Given the description of an element on the screen output the (x, y) to click on. 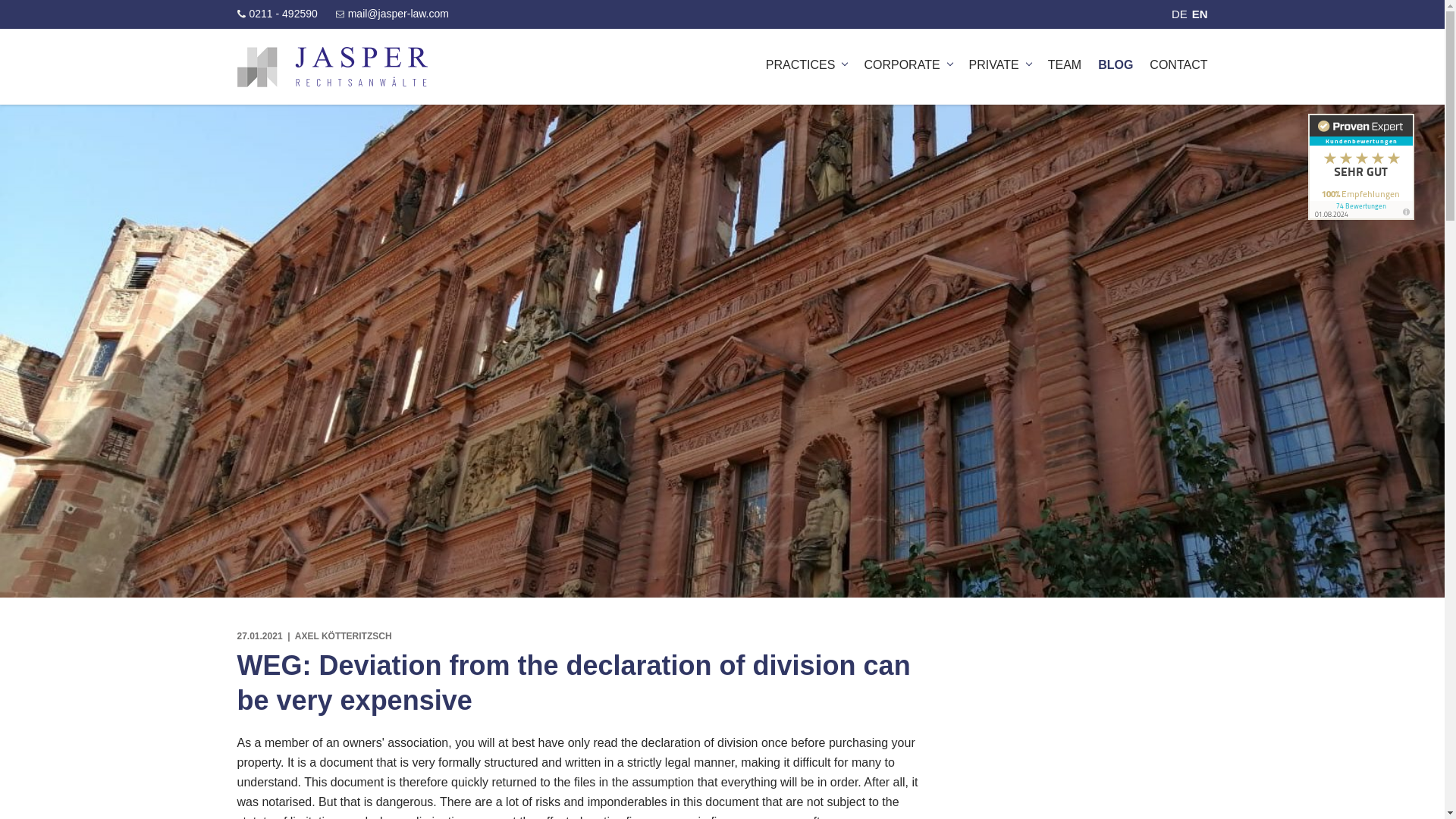
PRACTICES (806, 64)
0211 - 492590 (276, 13)
EN (1200, 13)
Practices (806, 64)
Corporate (907, 64)
PRIVATE (999, 64)
CORPORATE (907, 64)
DE (1180, 13)
